Given the description of an element on the screen output the (x, y) to click on. 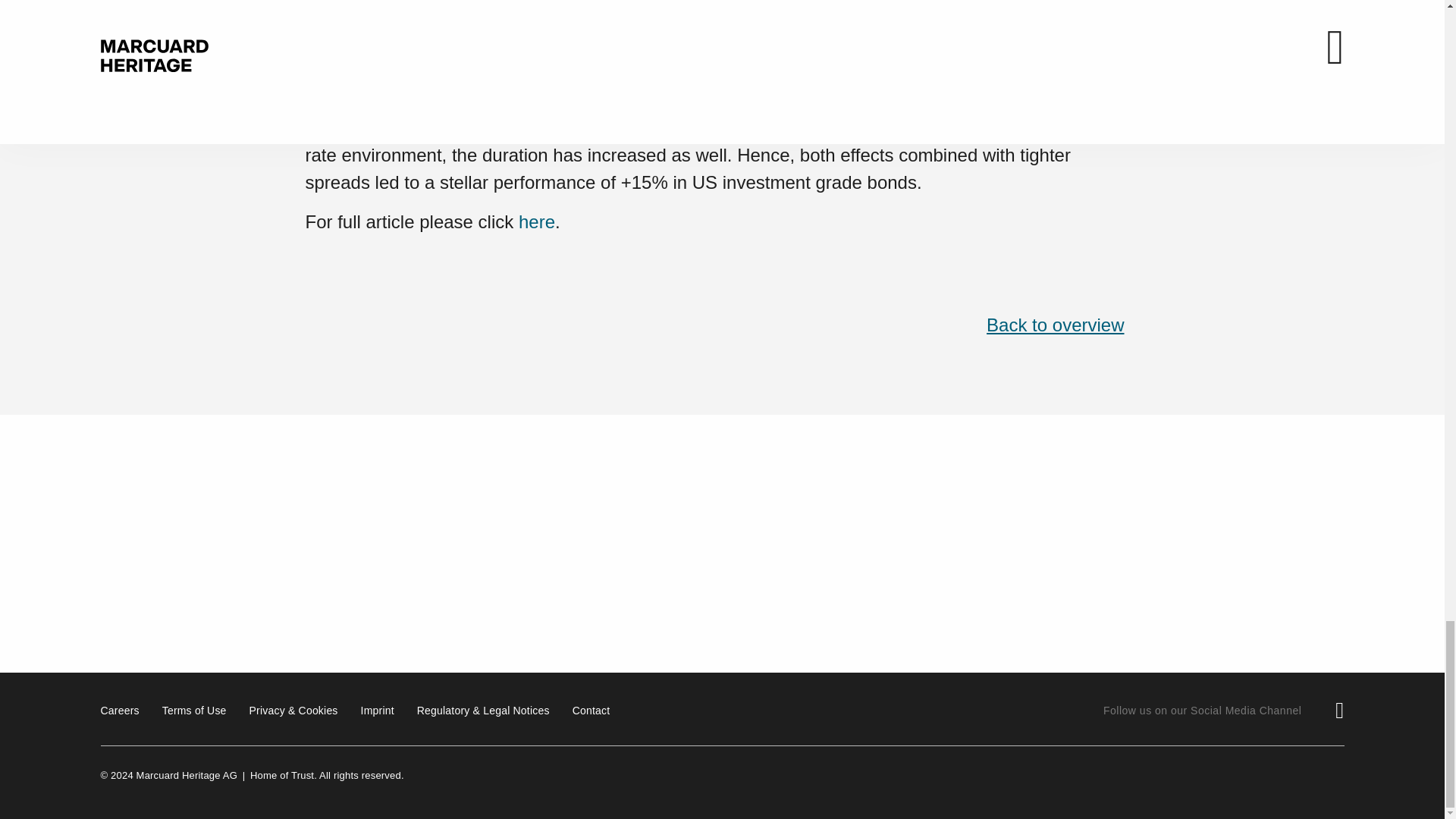
Careers (119, 710)
Terms of Use (194, 710)
here (536, 221)
Back to overview (1055, 324)
Contact (591, 710)
Imprint (377, 710)
